Given the description of an element on the screen output the (x, y) to click on. 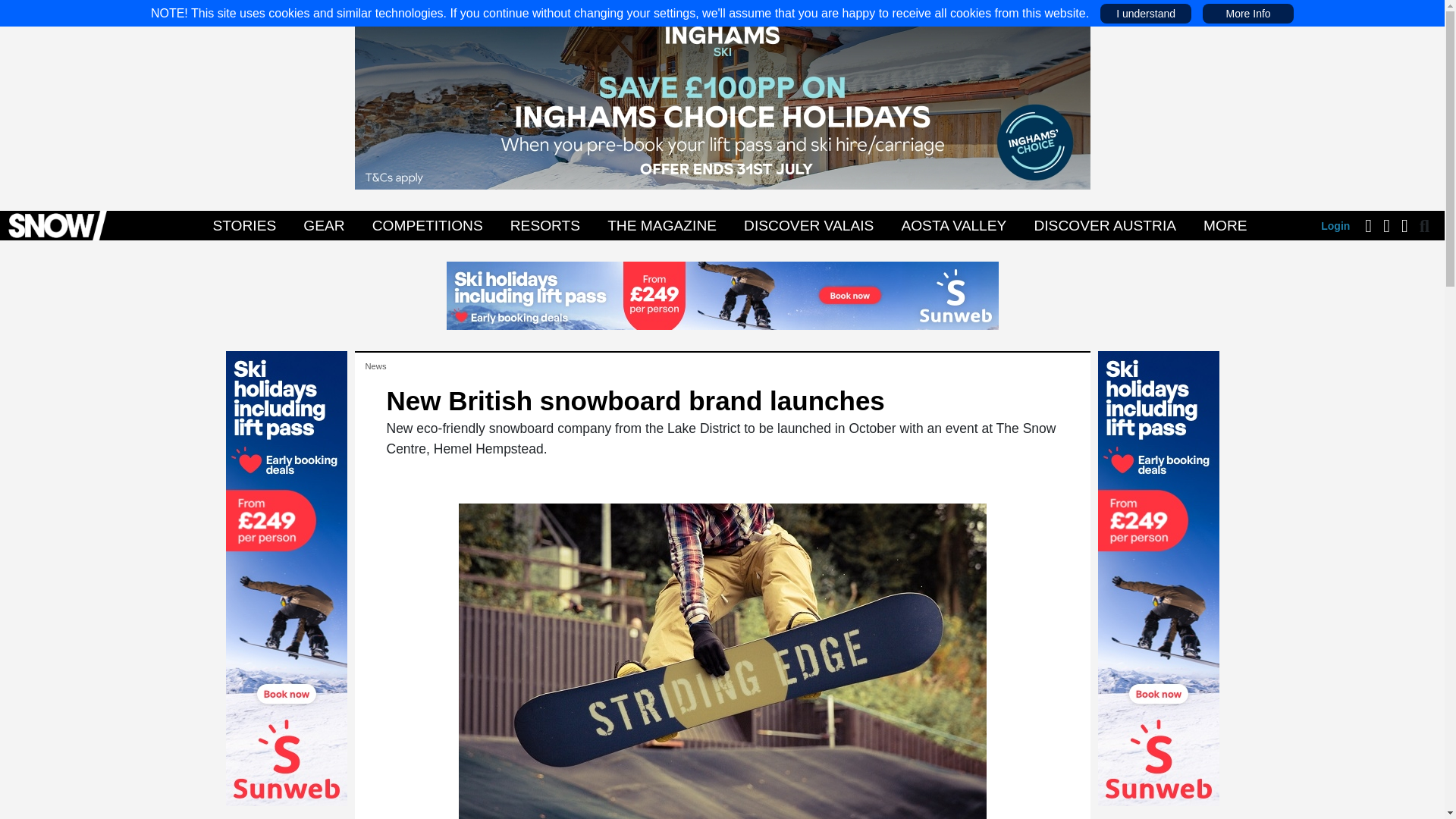
COMPETITIONS (427, 225)
Inghams billboard July 24 (722, 93)
DISCOVER AUSTRIA (1104, 225)
Sunweb outside left July 24 (286, 577)
STORIES (243, 225)
More Info (1247, 13)
AOSTA VALLEY (953, 225)
Sunweb leaderboard July 24 (721, 294)
DISCOVER VALAIS (808, 225)
THE MAGAZINE (662, 225)
Login (1334, 225)
Sunweb outside right July 24 (1158, 577)
News (376, 366)
GEAR (323, 225)
RESORTS (544, 225)
